Given the description of an element on the screen output the (x, y) to click on. 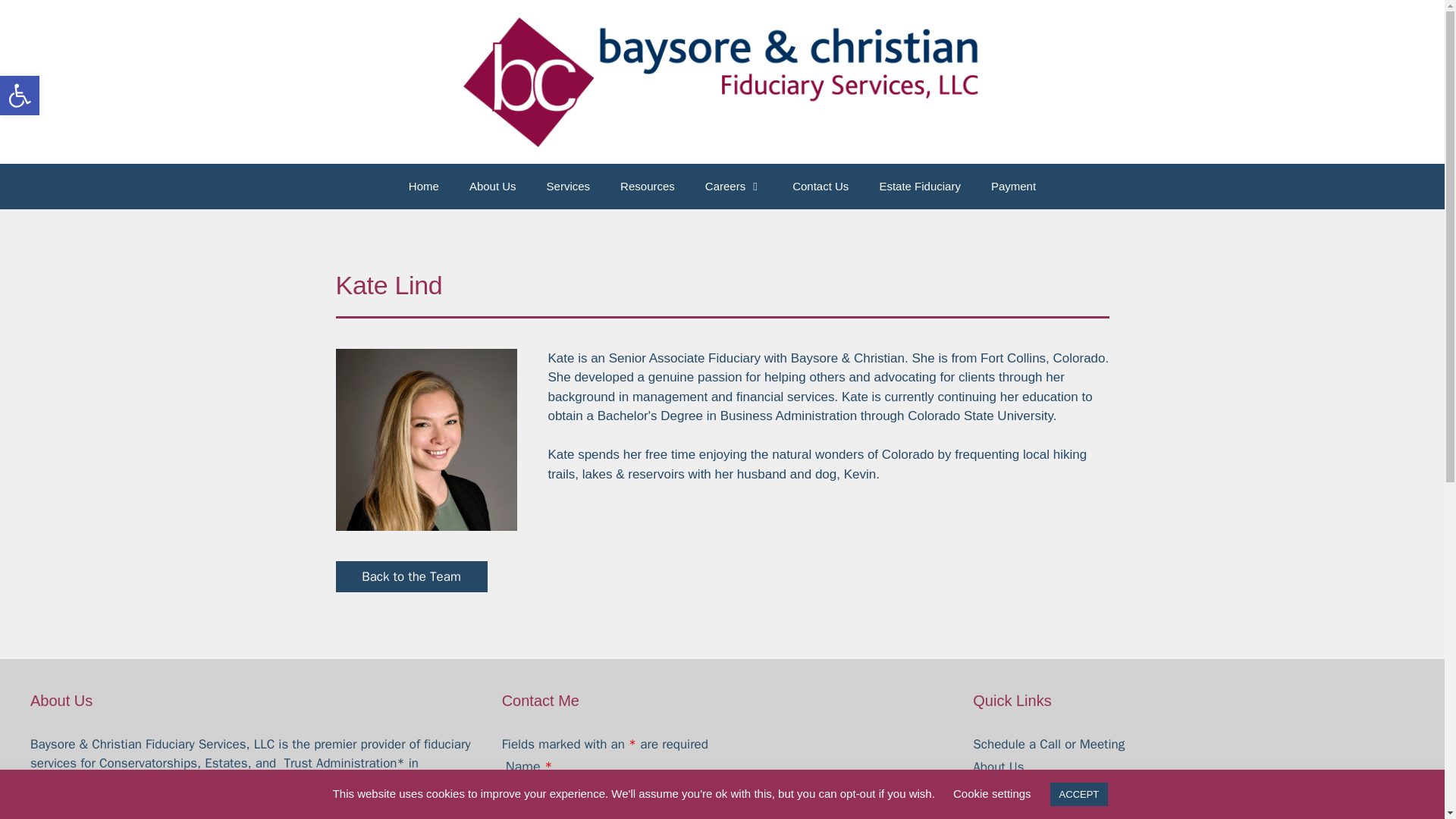
Payment (1013, 186)
Home (423, 186)
Back to the Team (410, 576)
ACCEPT (1078, 793)
Careers (733, 186)
About Us (997, 766)
Contact Us (820, 186)
Services (996, 790)
Kate-Lind-baysore-and-christian-fiduciary-services (425, 439)
Estate Fiduciary (1016, 812)
